Given the description of an element on the screen output the (x, y) to click on. 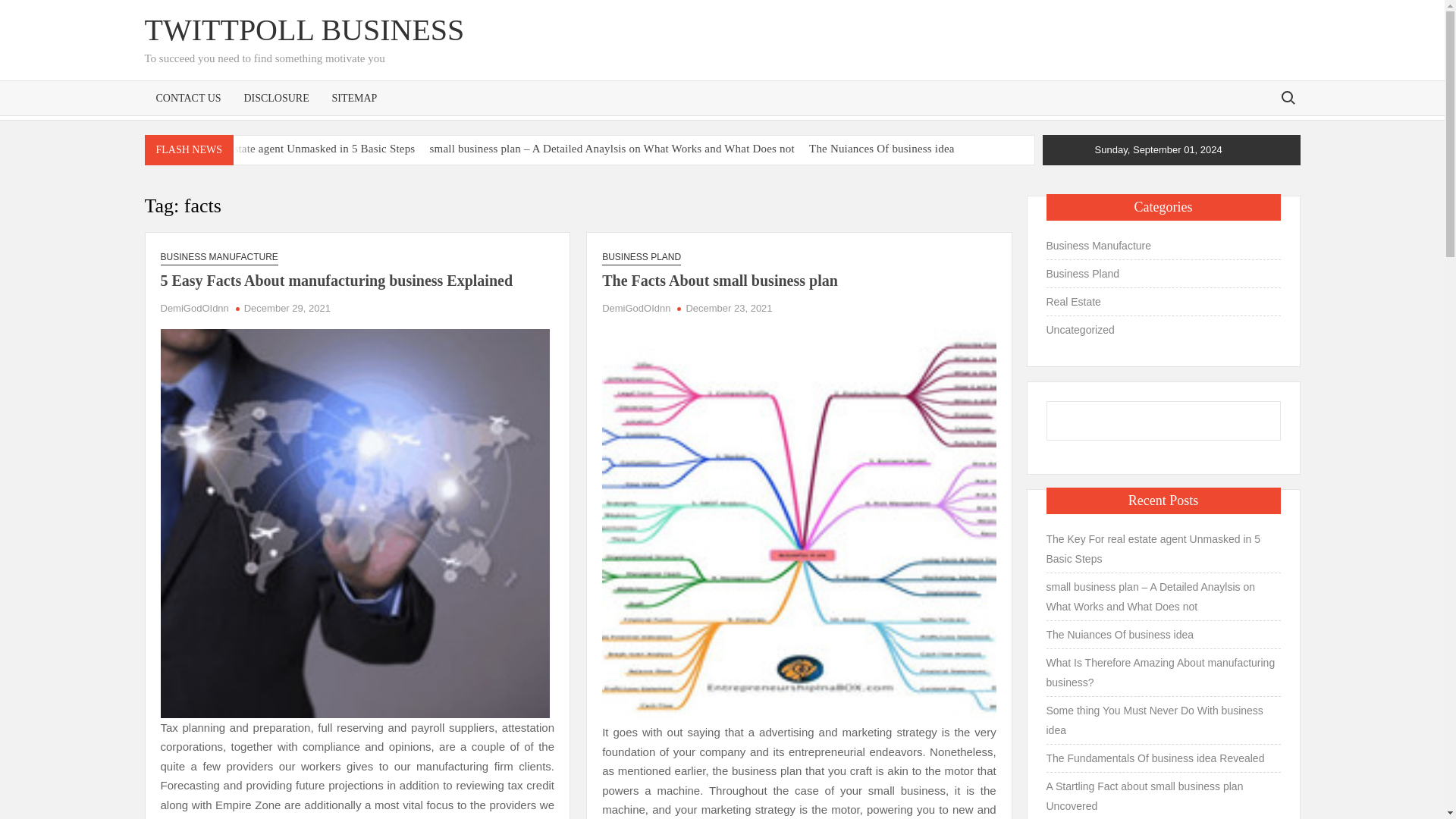
BUSINESS PLAND (641, 257)
BUSINESS MANUFACTURE (219, 257)
What Is Therefore Amazing About manufacturing business? (285, 170)
The Key For real estate agent Unmasked in 5 Basic Steps (279, 148)
December 29, 2021 (287, 307)
The Fundamentals Of business idea Revealed (804, 170)
What Is Therefore Amazing About manufacturing business? (285, 170)
DISCLOSURE (275, 97)
The Fundamentals Of business idea Revealed (804, 170)
TWITTPOLL BUSINESS (304, 29)
